Given the description of an element on the screen output the (x, y) to click on. 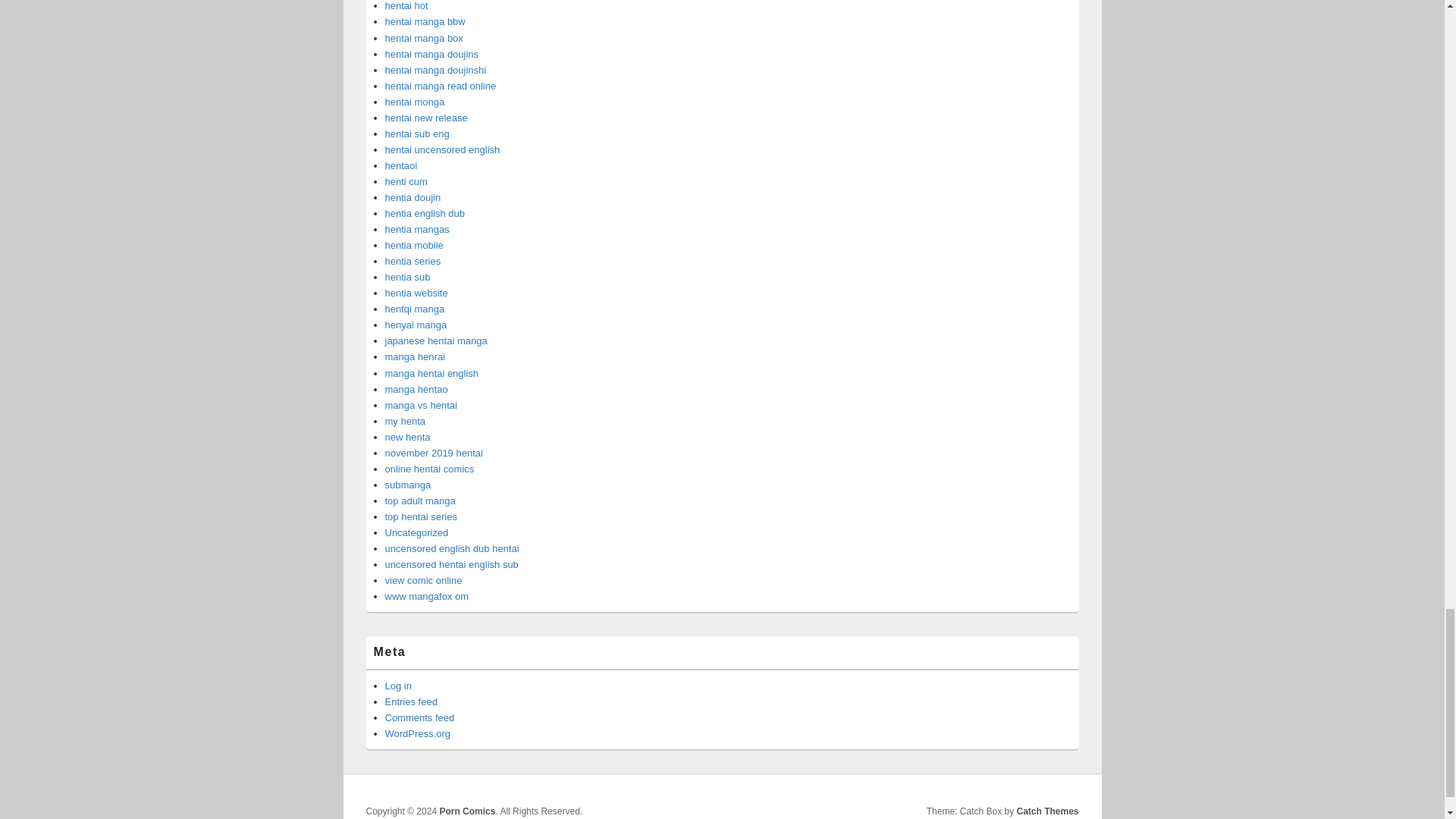
Porn Comics (467, 810)
Catch Themes (1047, 810)
